Given the description of an element on the screen output the (x, y) to click on. 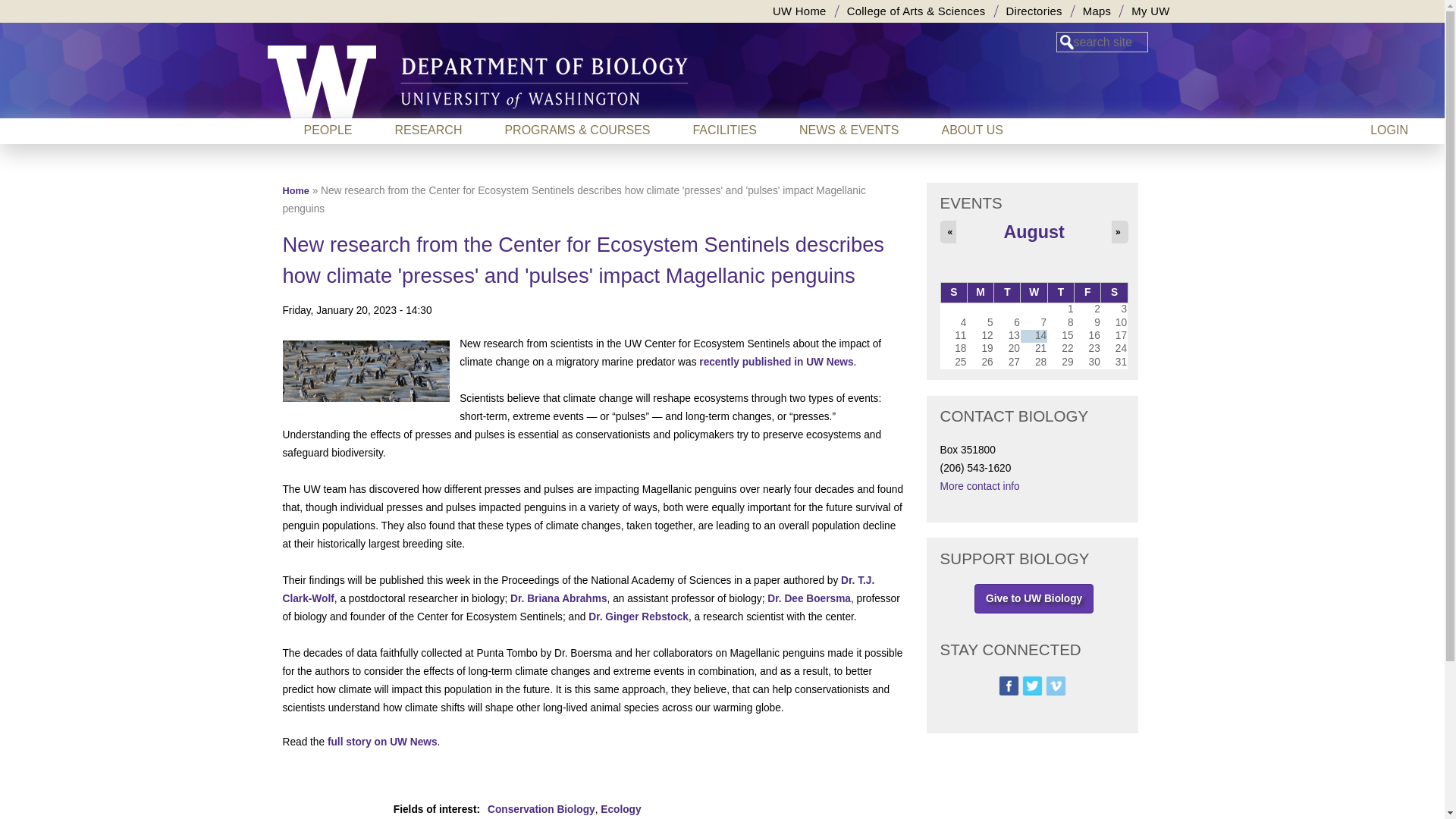
University of Washington Home (800, 10)
UW Directories (1033, 10)
Directories (1033, 10)
Enter the terms you wish to search for. (1101, 41)
My UW (1150, 10)
UW Maps (1097, 10)
recently published in UW News (775, 361)
UW College of Arts and Sciences (916, 10)
University of Washington (320, 81)
UW Home (800, 10)
